Given the description of an element on the screen output the (x, y) to click on. 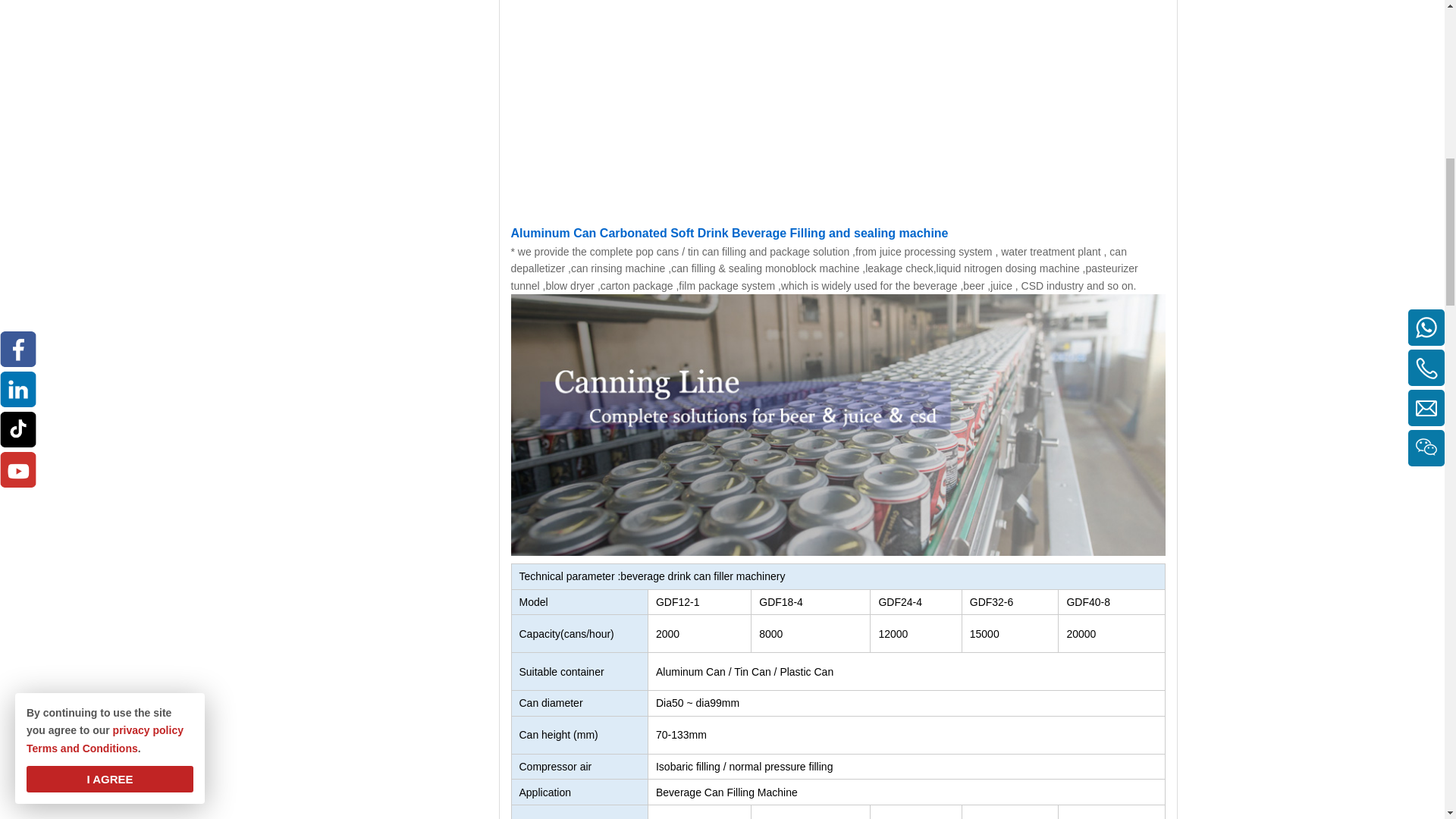
YouTube video player (834, 100)
